Given the description of an element on the screen output the (x, y) to click on. 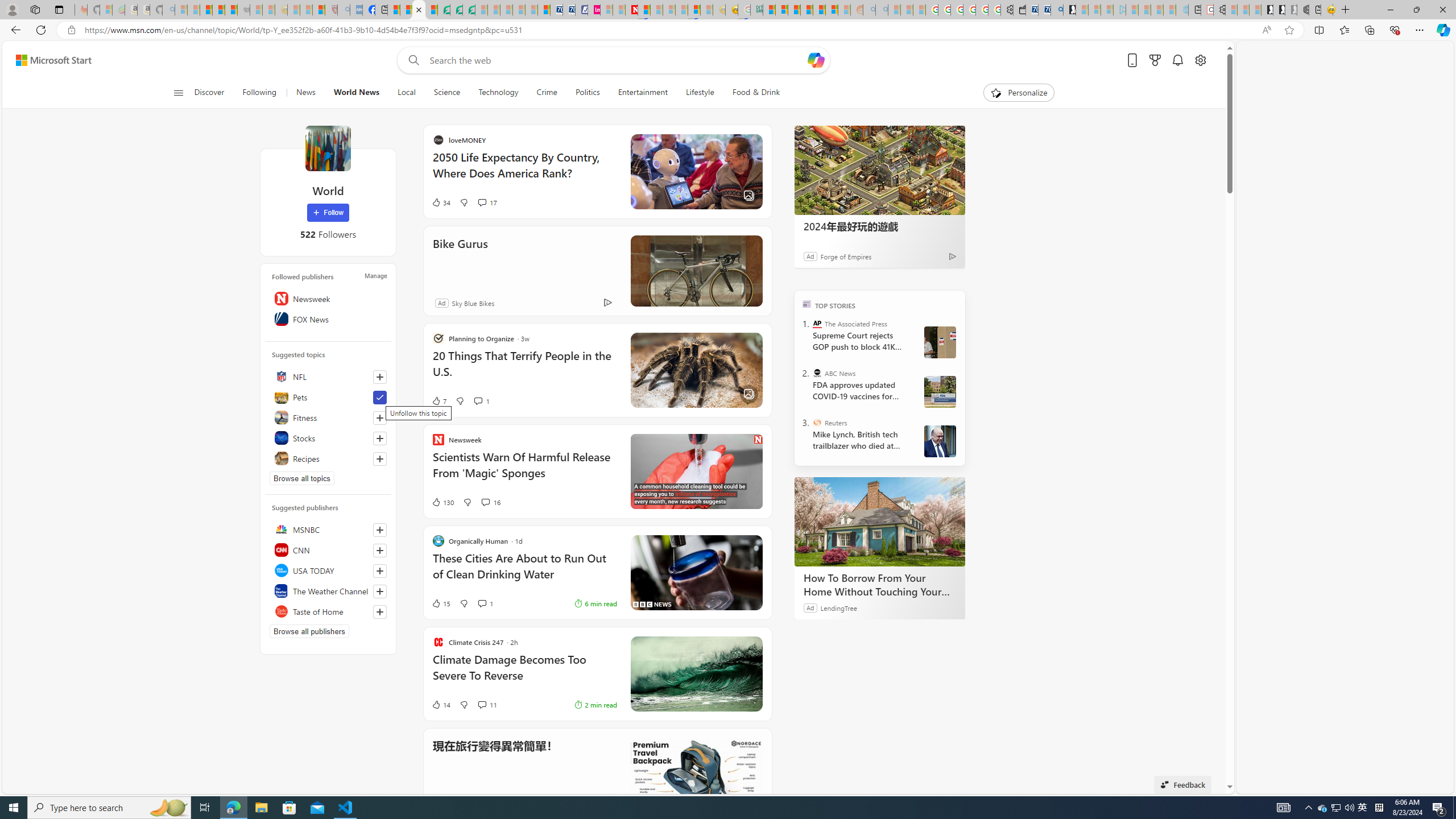
These Cities Are About to Run Out of Clean Drinking Water (805, 572)
World (327, 148)
Forge of Empires (845, 256)
Bike Gurus (805, 270)
